Given the description of an element on the screen output the (x, y) to click on. 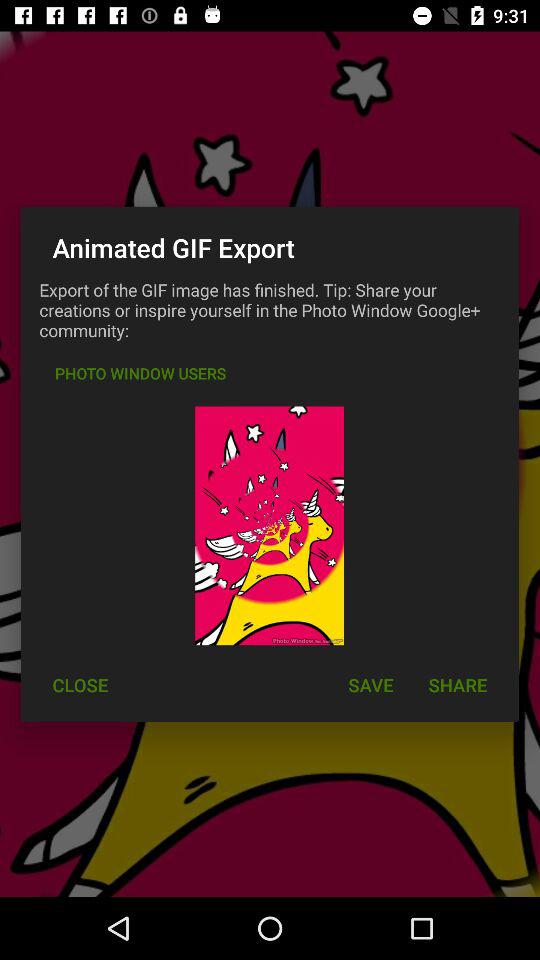
swipe until close item (80, 684)
